Given the description of an element on the screen output the (x, y) to click on. 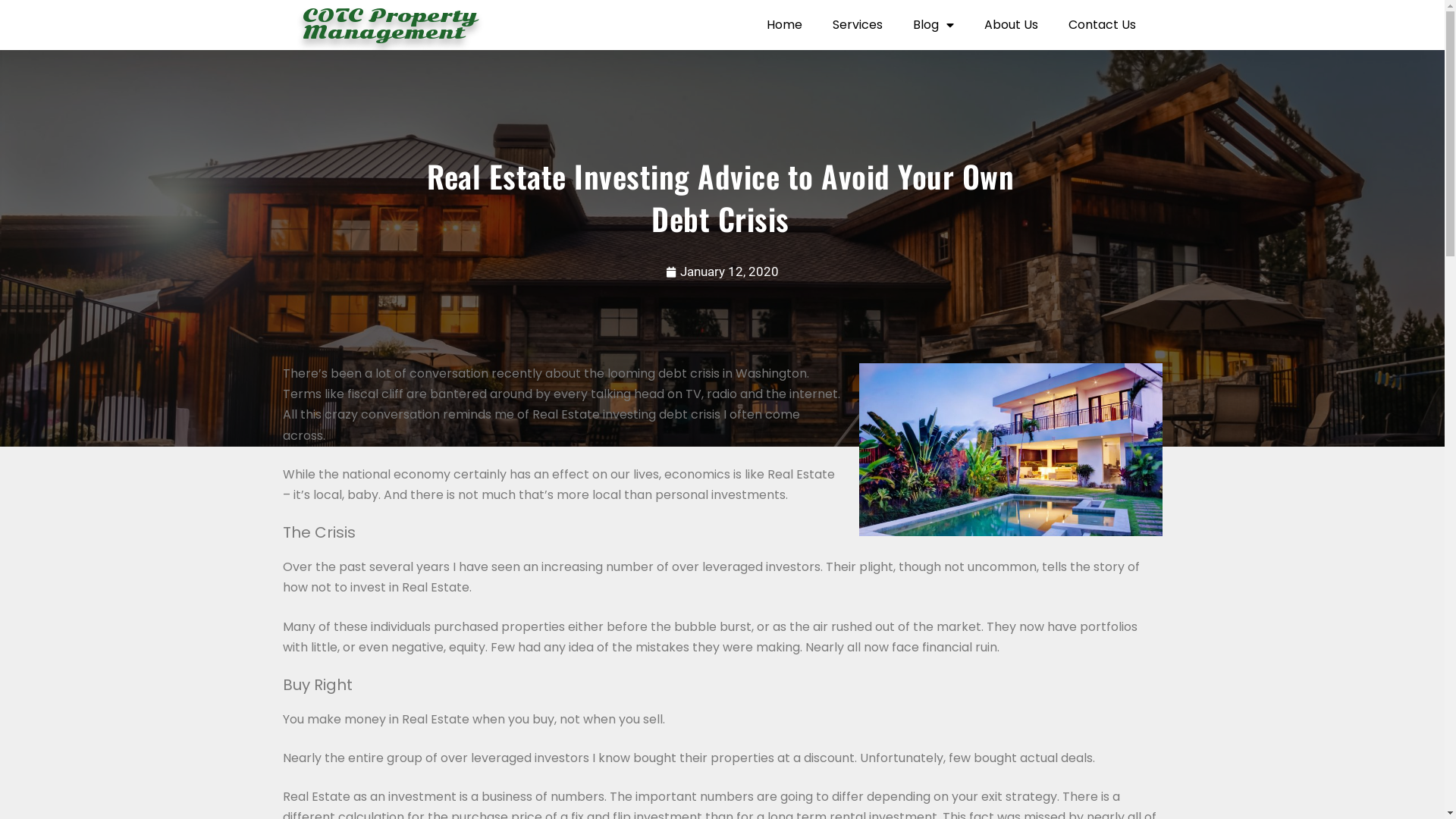
Blog Element type: text (933, 24)
About Us Element type: text (1011, 24)
Contact Us Element type: text (1102, 24)
January 12, 2020 Element type: text (721, 272)
Services Element type: text (857, 24)
Home Element type: text (784, 24)
